Given the description of an element on the screen output the (x, y) to click on. 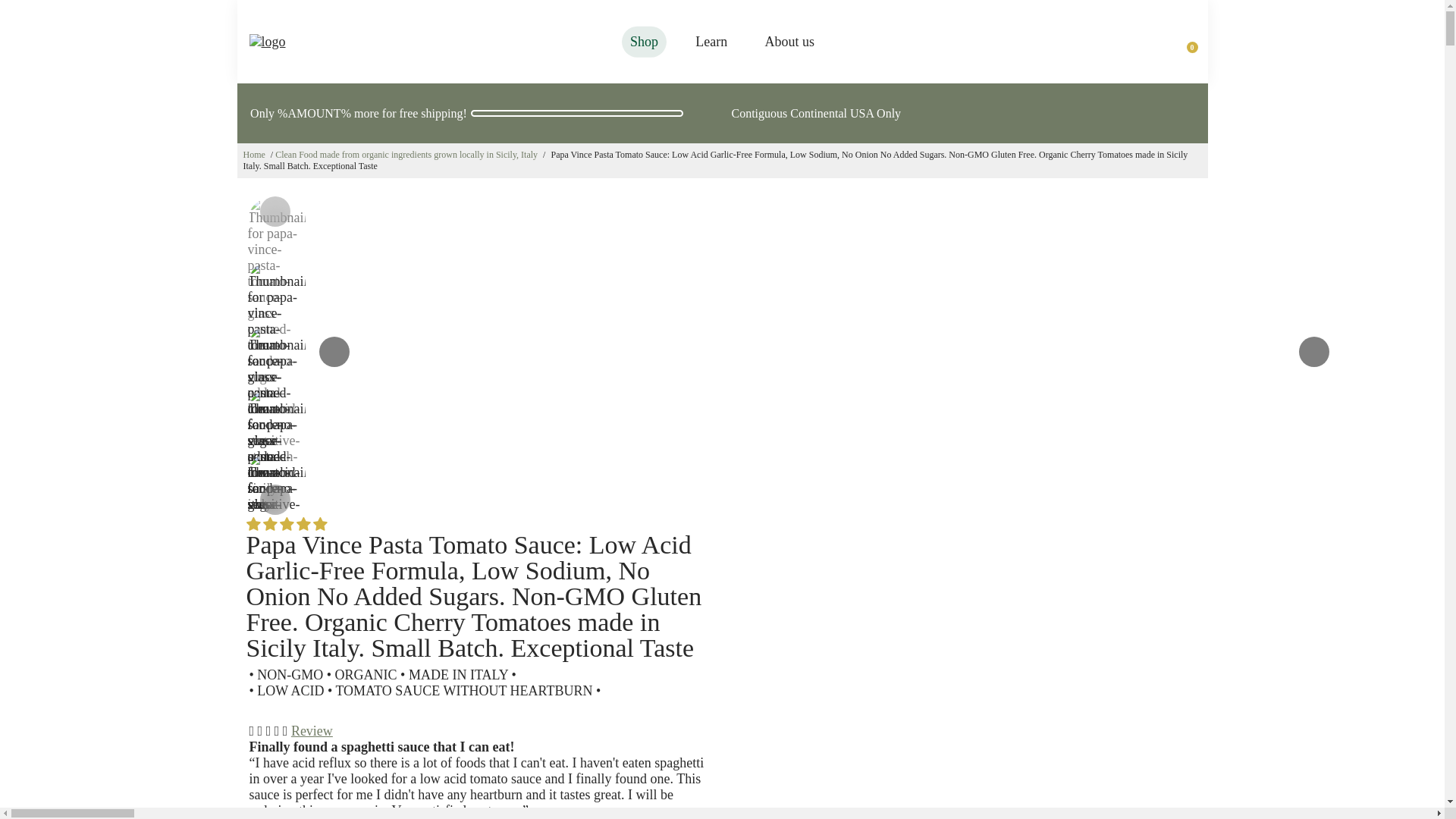
Home (253, 154)
About us (789, 41)
